Given the description of an element on the screen output the (x, y) to click on. 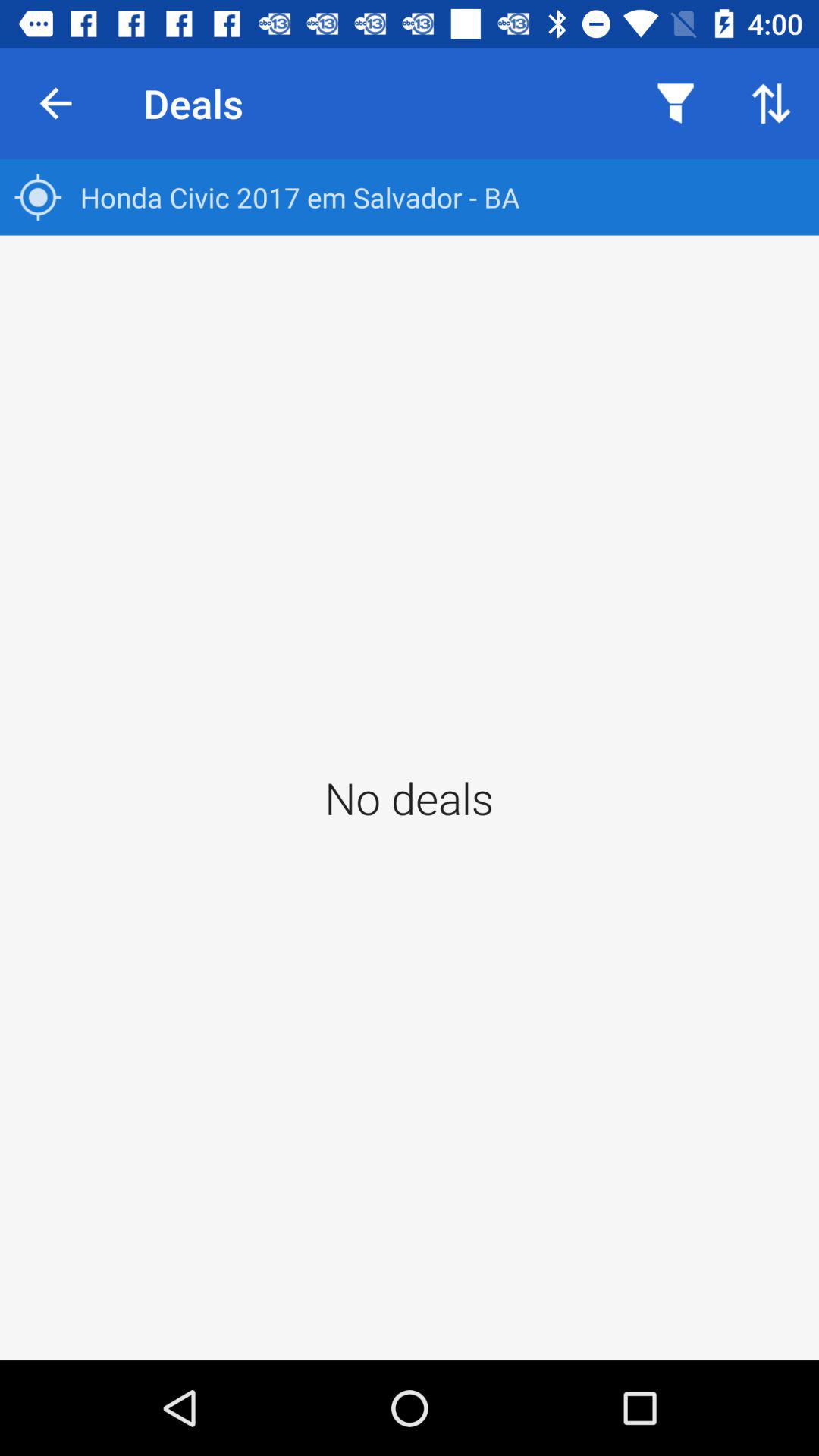
click item above no deals item (409, 197)
